Given the description of an element on the screen output the (x, y) to click on. 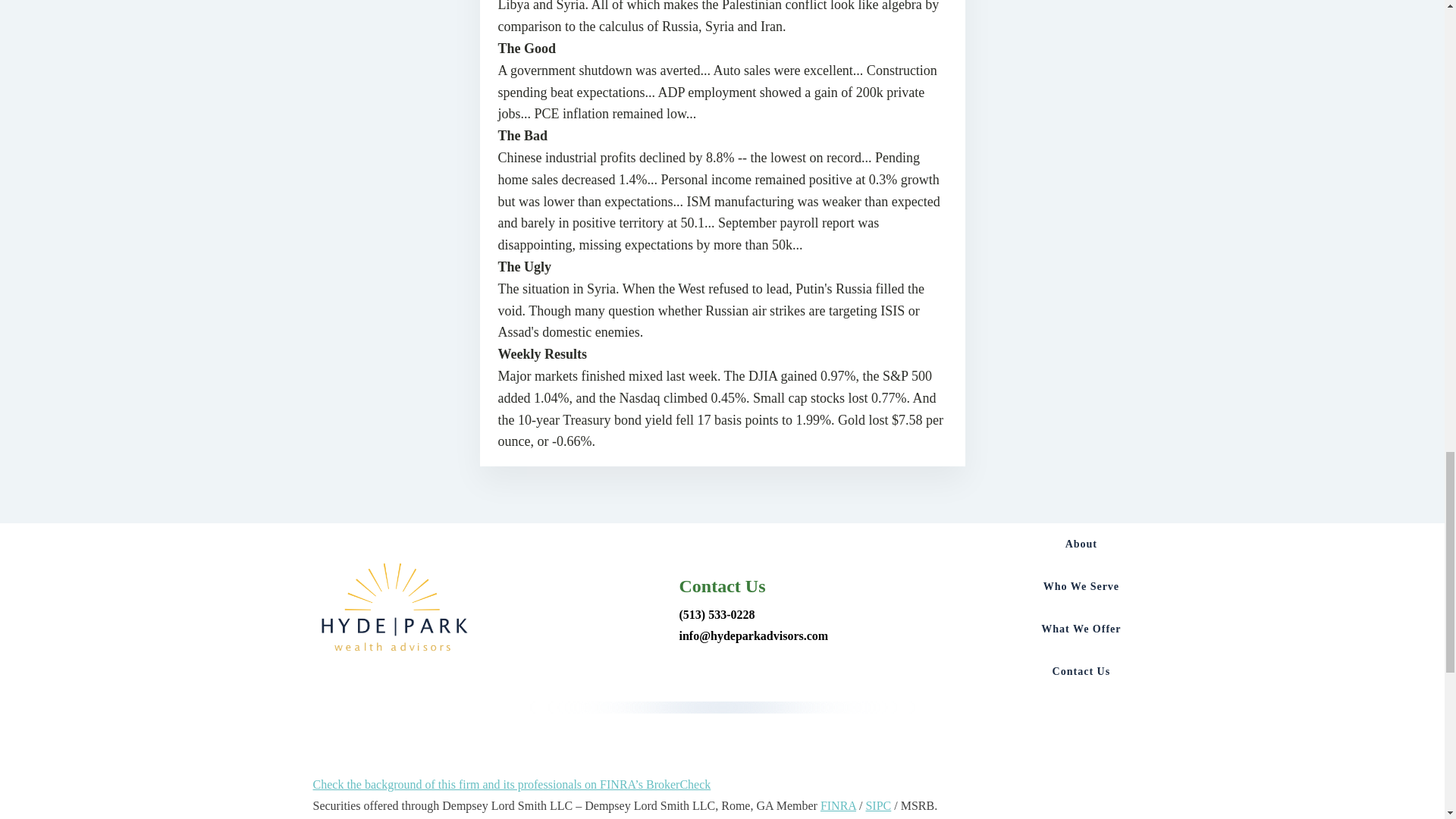
Who We Serve (1080, 586)
Contact Us (1080, 671)
What We Offer (1080, 629)
SIPC (877, 805)
FINRA (838, 805)
About (1080, 544)
